Given the description of an element on the screen output the (x, y) to click on. 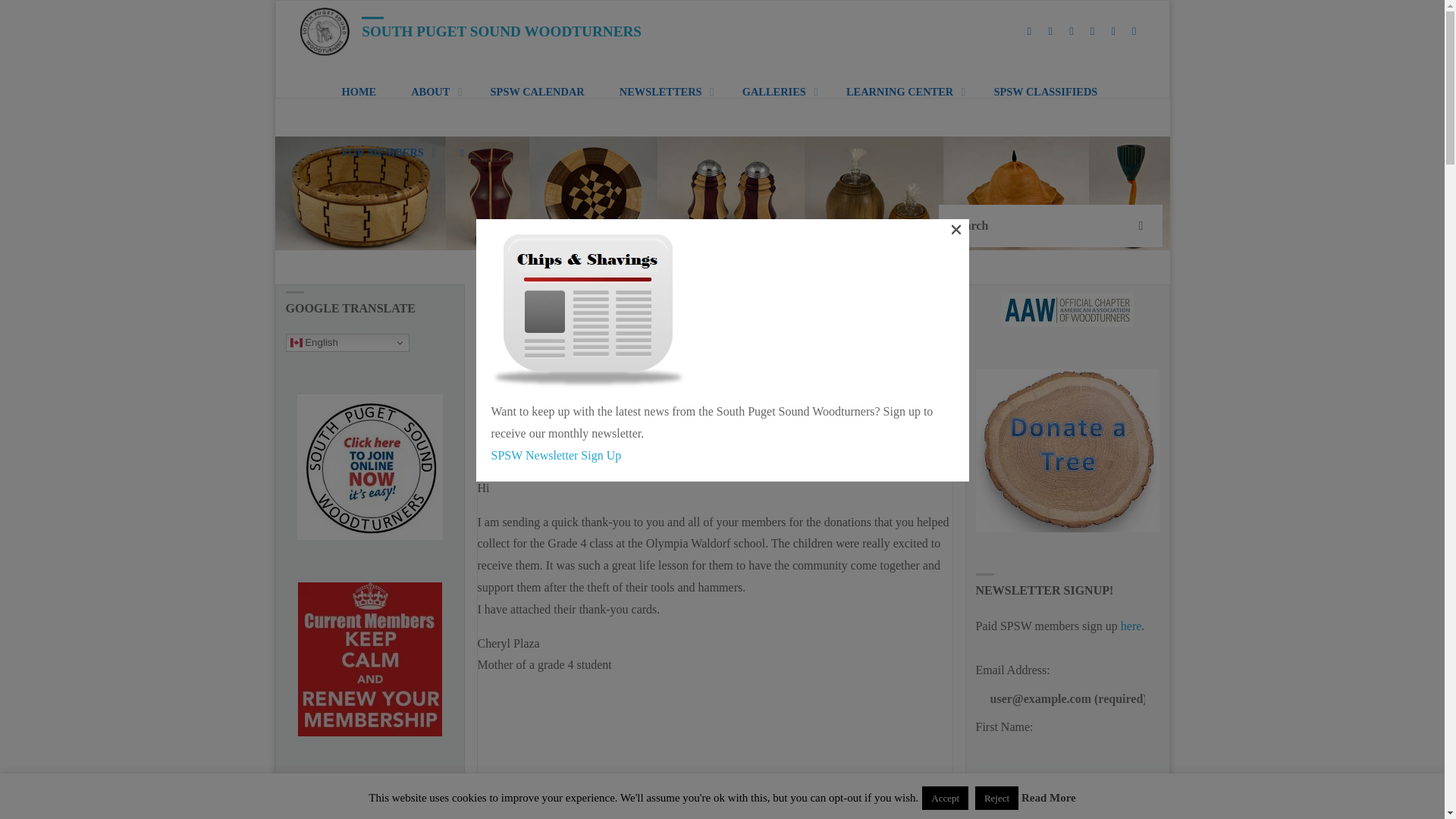
Learning about Turning (501, 30)
Twitter (1030, 30)
Pinterest (1071, 30)
South Puget Sound Woodturners (324, 30)
YouTube (1050, 30)
Instagram (1113, 30)
Facebook (1092, 30)
